Given the description of an element on the screen output the (x, y) to click on. 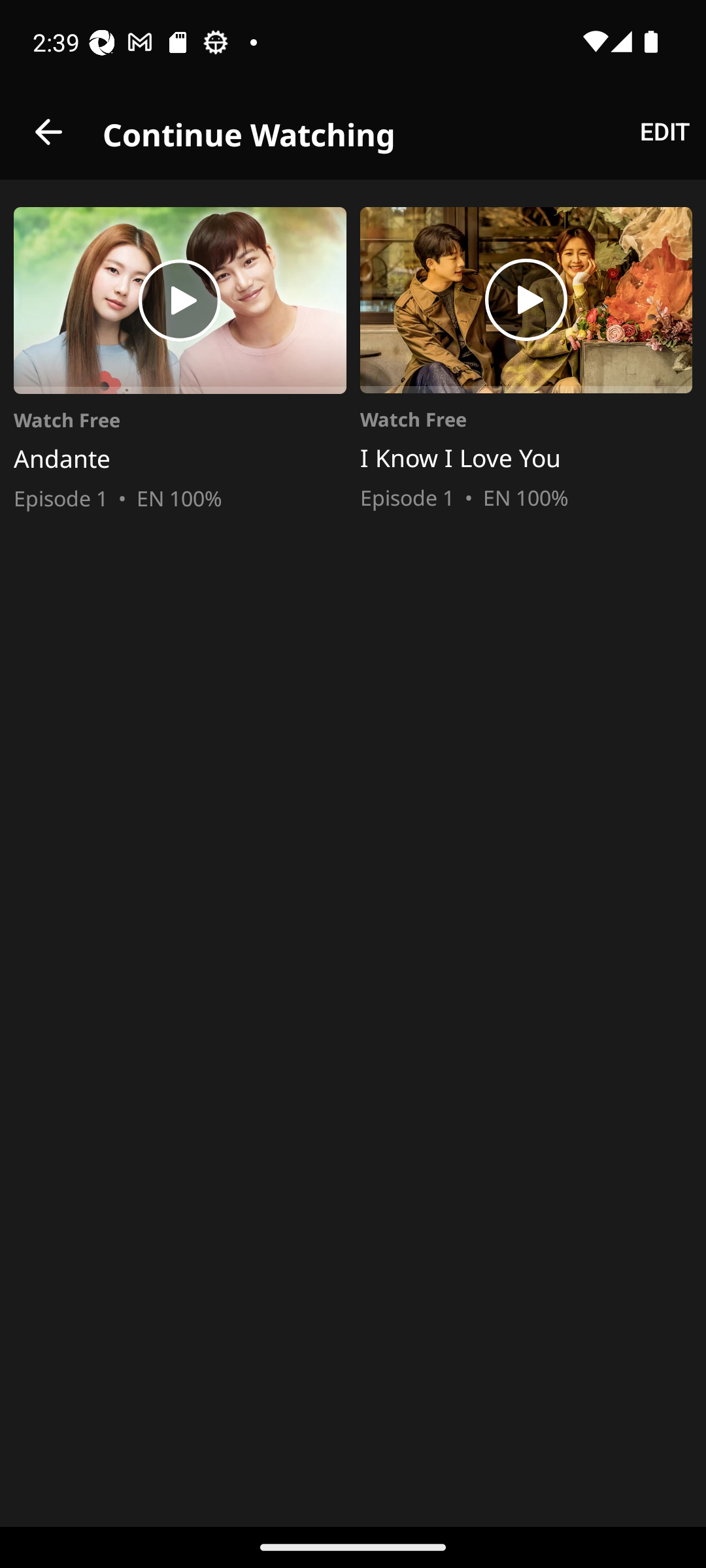
close_button (48, 131)
EDIT (664, 131)
